Given the description of an element on the screen output the (x, y) to click on. 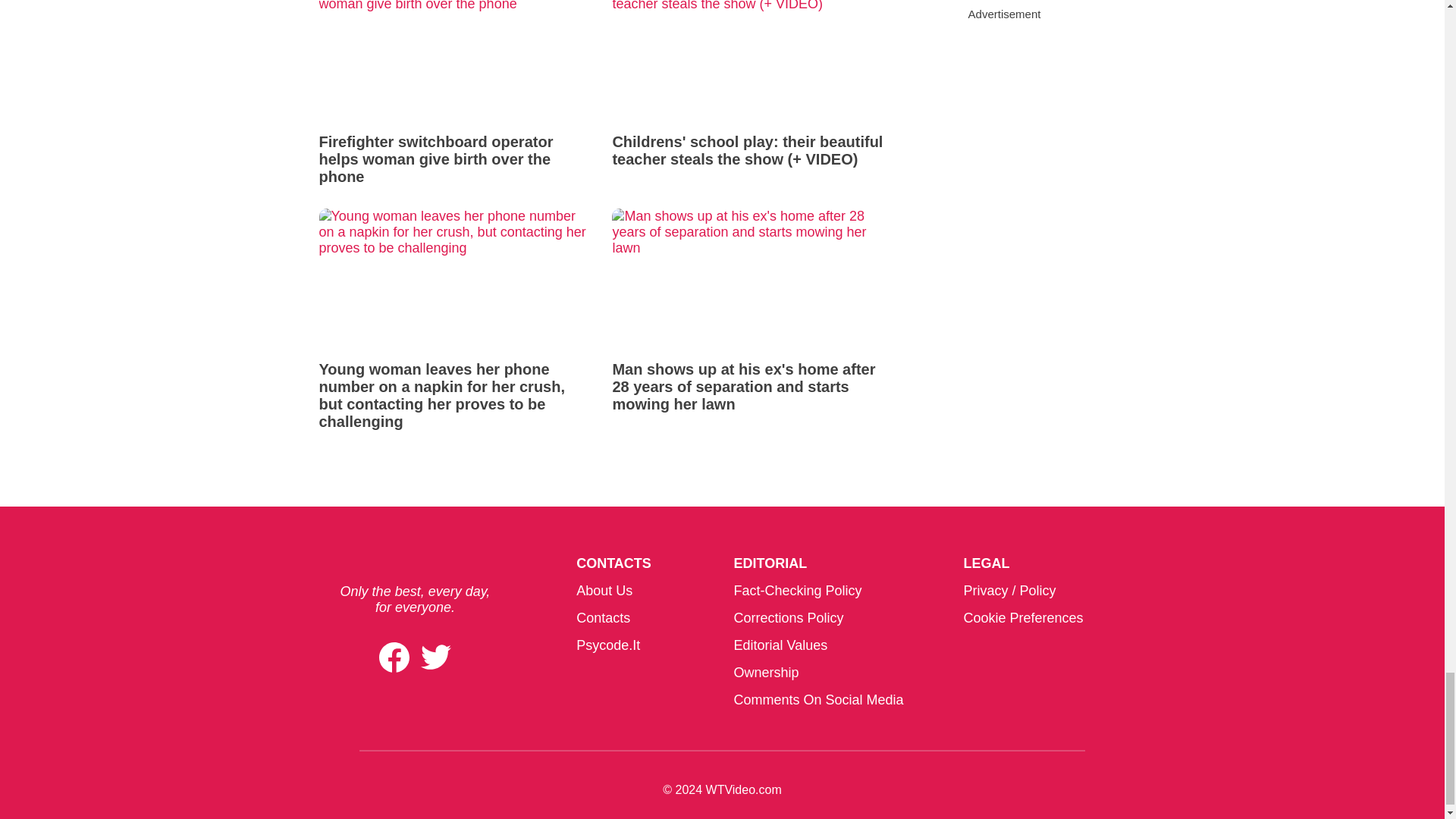
Comments On Social Media (817, 699)
Editorial Values (780, 645)
Cookie Preferences (1022, 617)
Fact-Checking Policy (797, 590)
Contacts (603, 617)
About Us (603, 590)
Psycode.It (608, 645)
Ownership (765, 672)
Corrections Policy (788, 617)
